Given the description of an element on the screen output the (x, y) to click on. 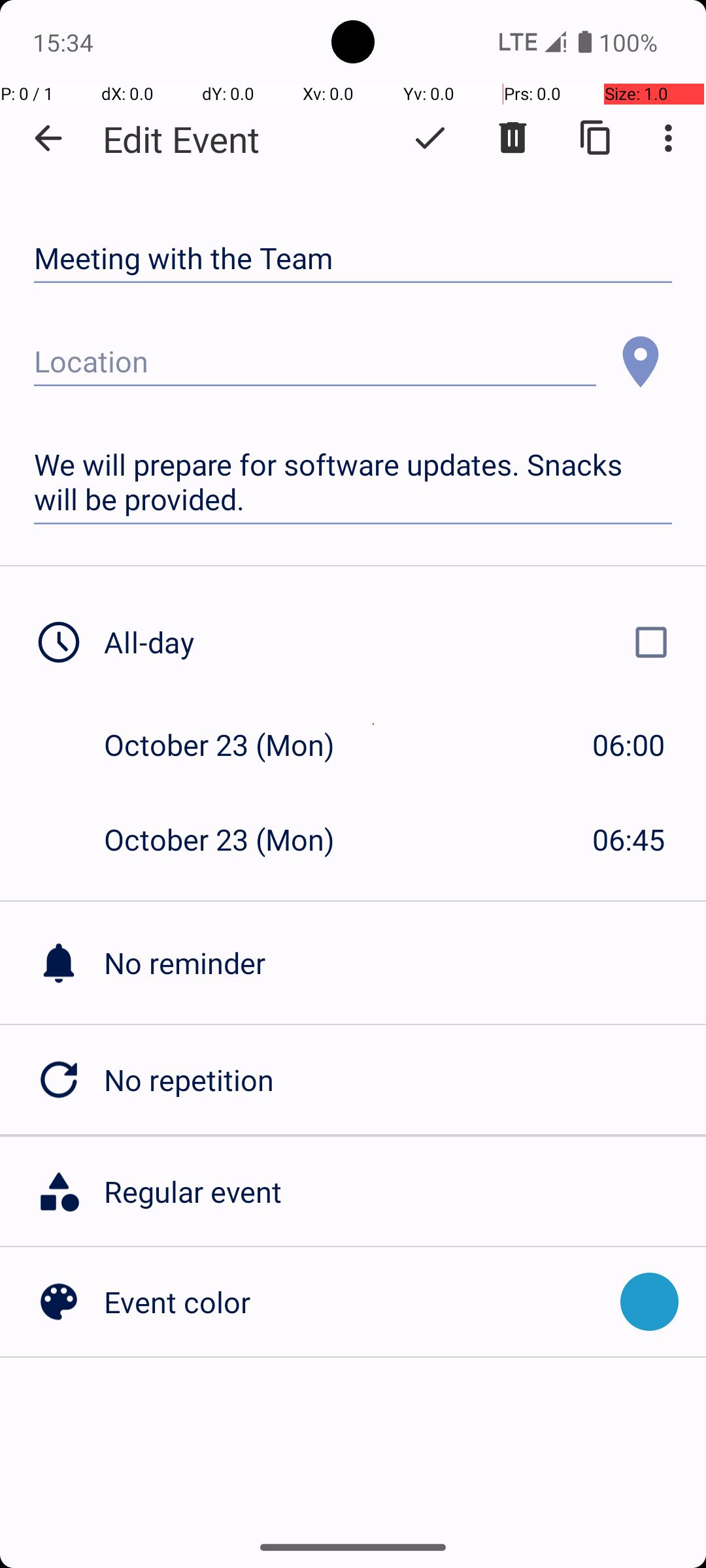
Meeting with the Team Element type: android.widget.EditText (352, 258)
We will prepare for software updates. Snacks will be provided. Element type: android.widget.EditText (352, 482)
October 23 (Mon) Element type: android.widget.TextView (232, 744)
06:00 Element type: android.widget.TextView (628, 744)
06:45 Element type: android.widget.TextView (628, 838)
